Given the description of an element on the screen output the (x, y) to click on. 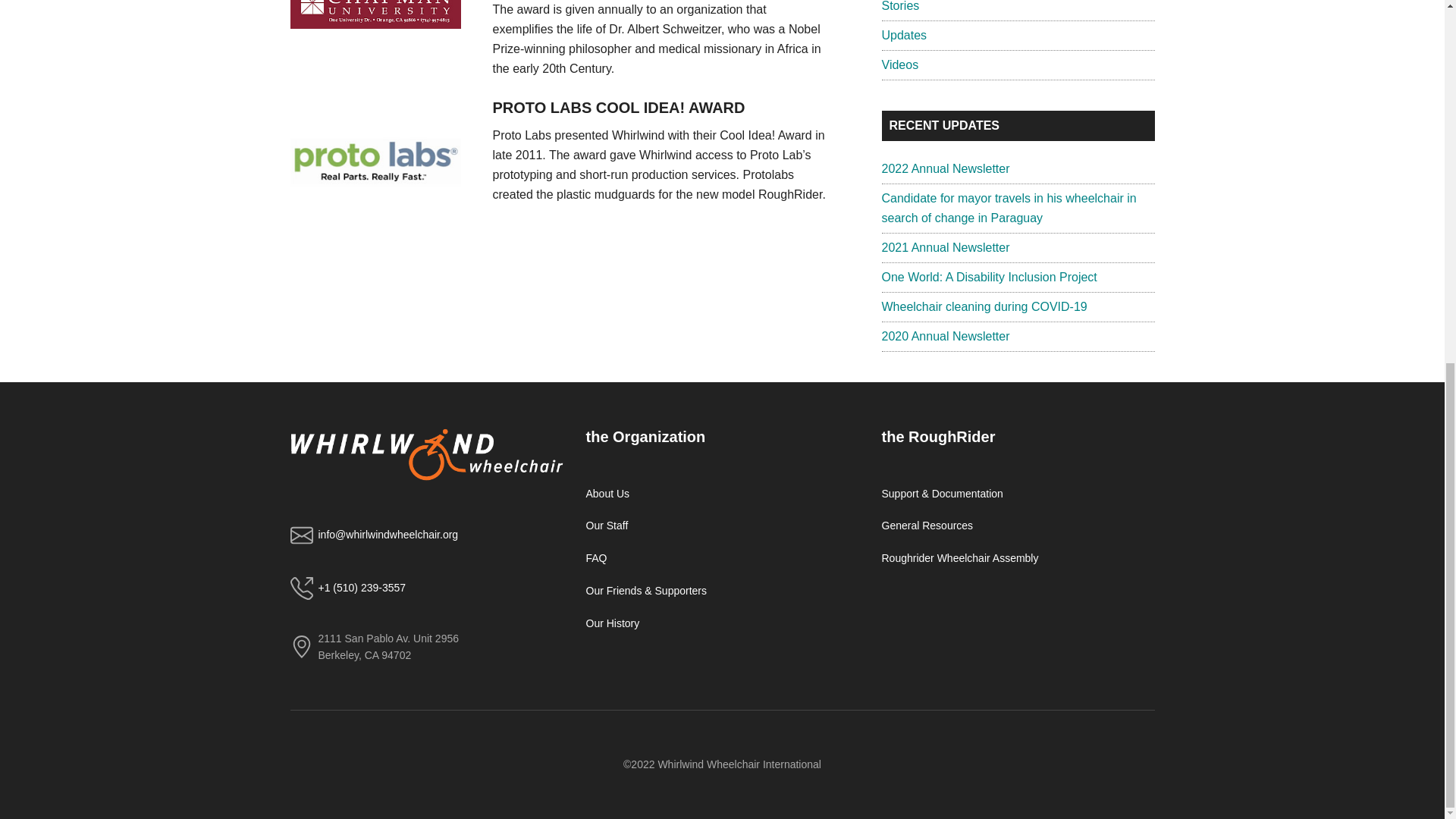
Wheelchair cleaning during COVID-19 (983, 306)
Stories (899, 6)
One World: A Disability Inclusion Project (988, 277)
2020 Annual Newsletter (944, 336)
About Us (606, 493)
2021 Annual Newsletter (944, 246)
Videos (899, 64)
Our Staff (606, 525)
Updates (903, 34)
